Given the description of an element on the screen output the (x, y) to click on. 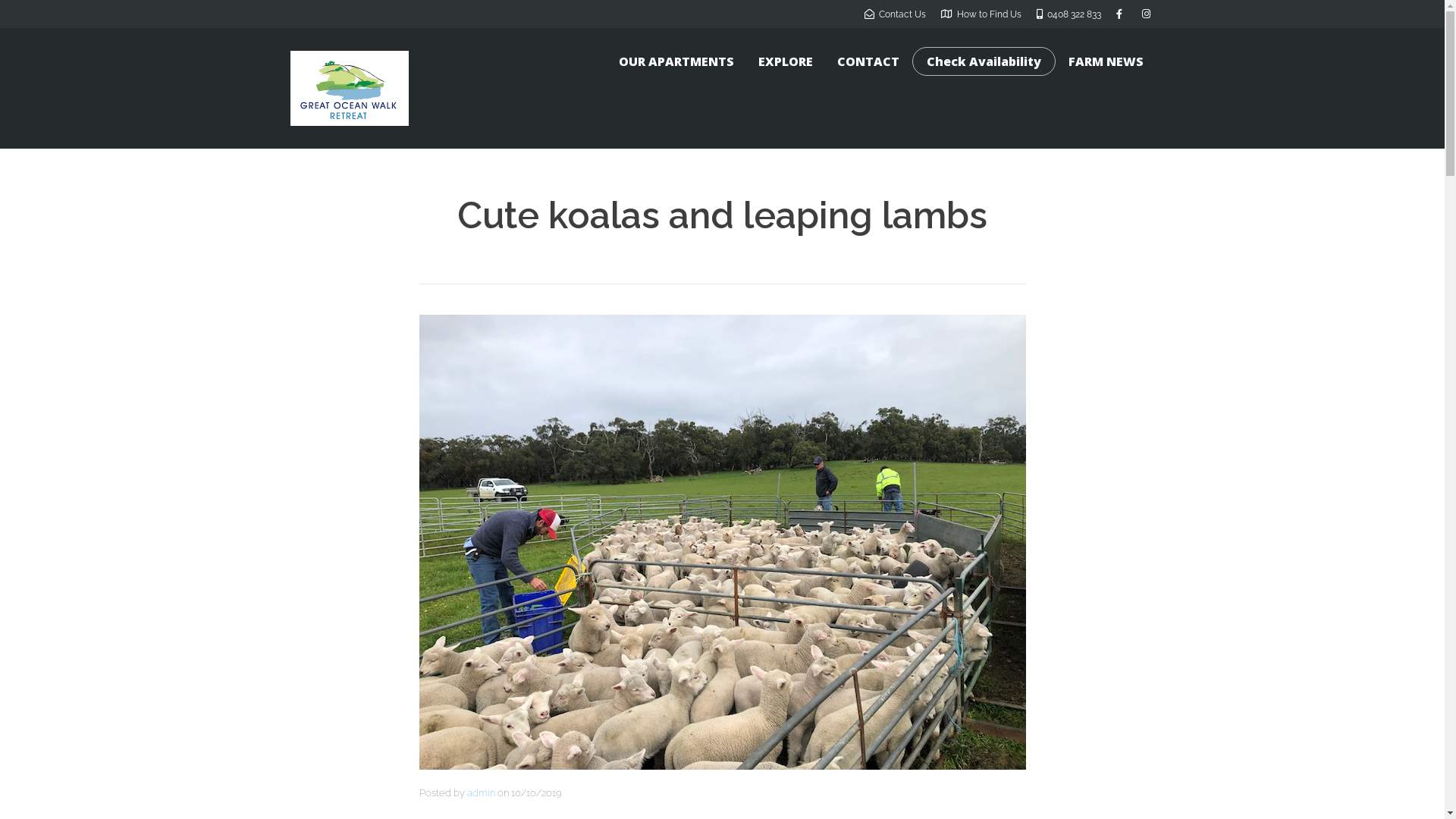
EXPLORE Element type: text (785, 61)
FARM NEWS Element type: text (1104, 61)
admin Element type: text (481, 792)
Check Availability Element type: text (983, 61)
0408 322 833 Element type: text (1067, 14)
CONTACT Element type: text (868, 61)
Contact Us Element type: text (894, 14)
OUR APARTMENTS Element type: text (676, 61)
How to Find Us Element type: text (980, 14)
